Given the description of an element on the screen output the (x, y) to click on. 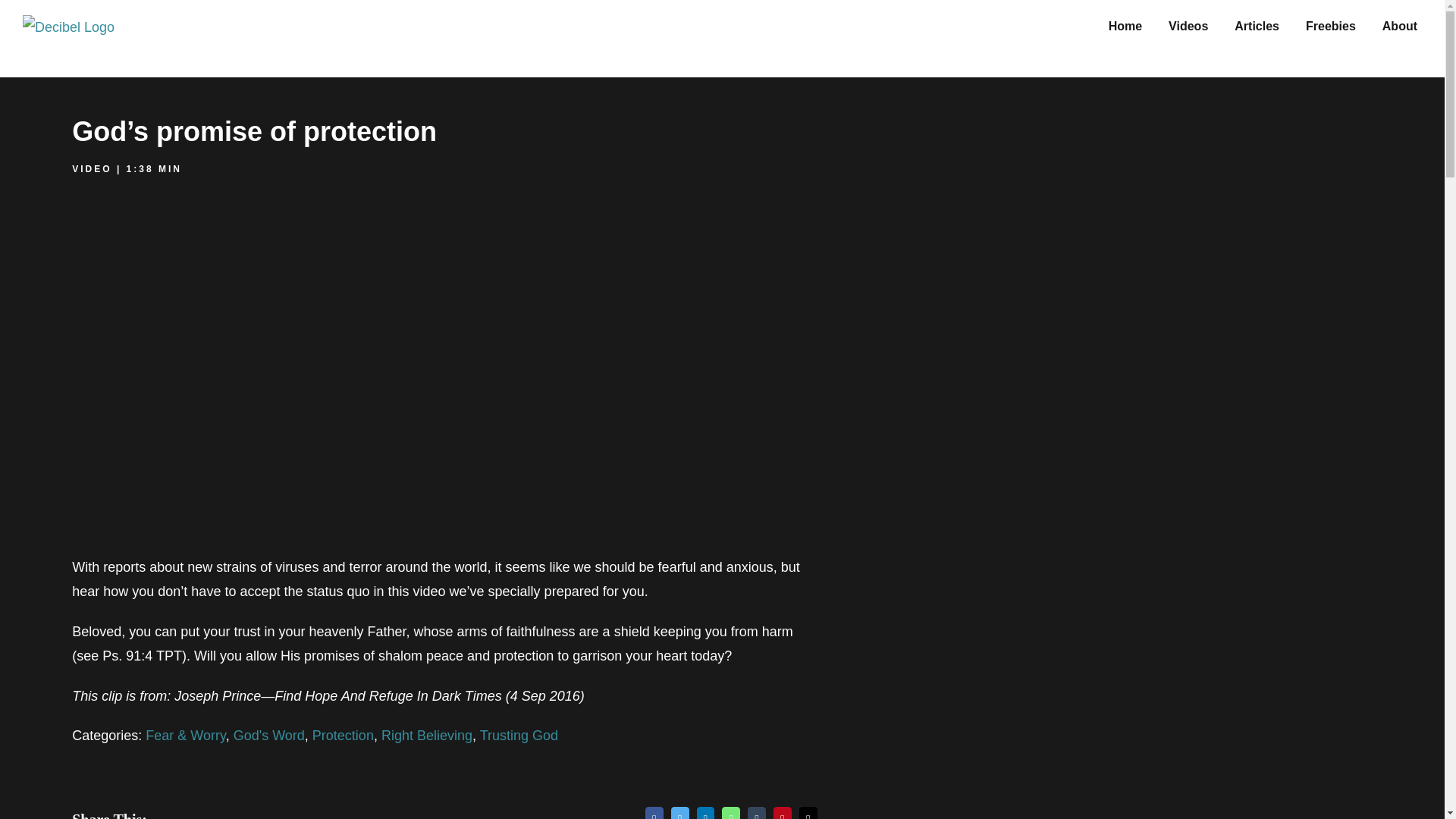
Freebies (1330, 24)
View all posts in Protection (343, 735)
Tumblr (756, 812)
Pinterest (782, 812)
Articles (1256, 24)
God's Word (268, 735)
Facebook (654, 812)
View all posts in Right Believing (426, 735)
LinkedIn (705, 812)
Protection (343, 735)
